Given the description of an element on the screen output the (x, y) to click on. 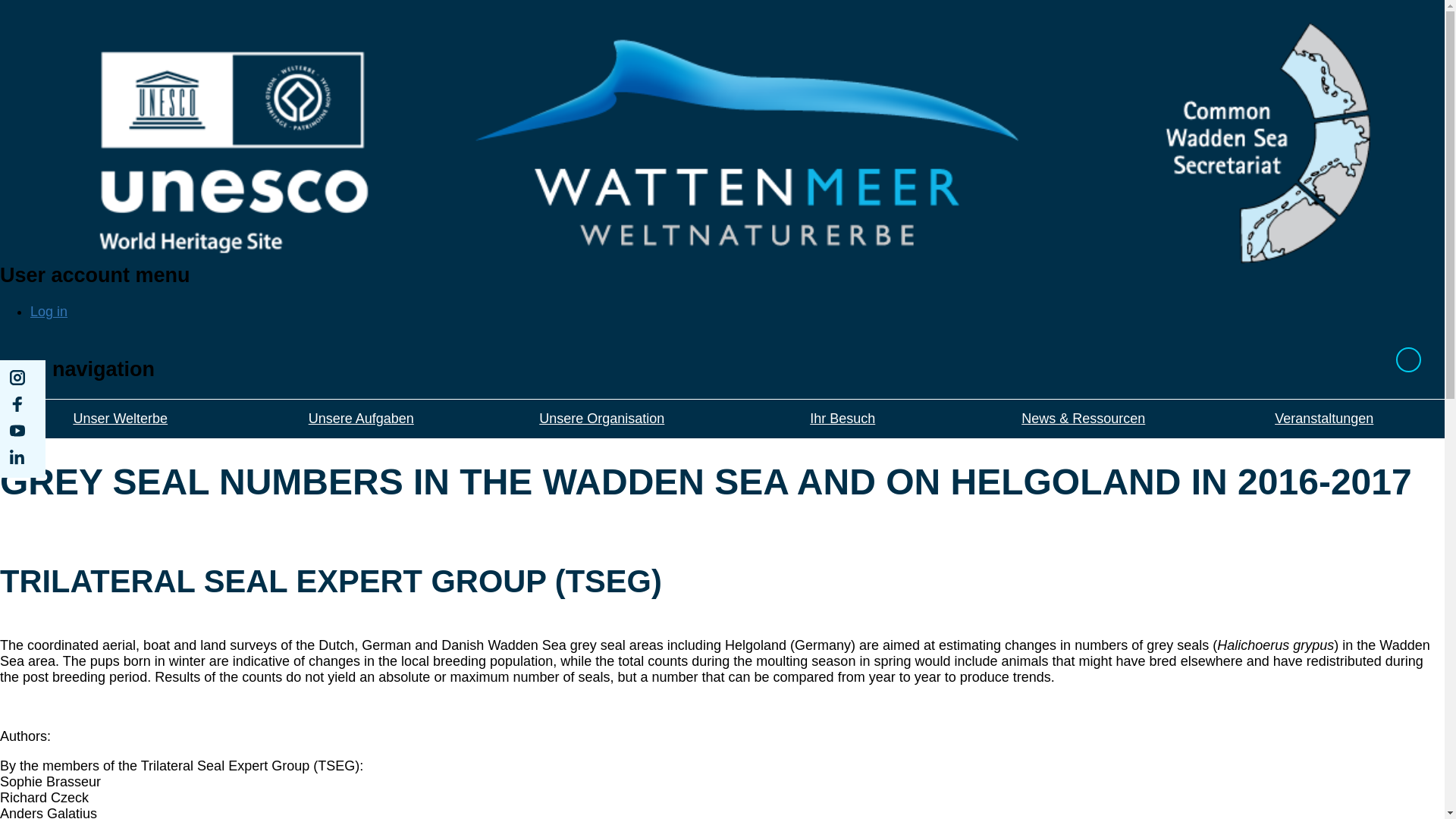
Log in (48, 311)
Unser Welterbe (120, 430)
Deutsch (1408, 359)
Unsere Aufgaben (361, 430)
Unsere Organisation (601, 430)
Danish (1383, 361)
English (1360, 361)
Ihr Besuch (842, 430)
